Given the description of an element on the screen output the (x, y) to click on. 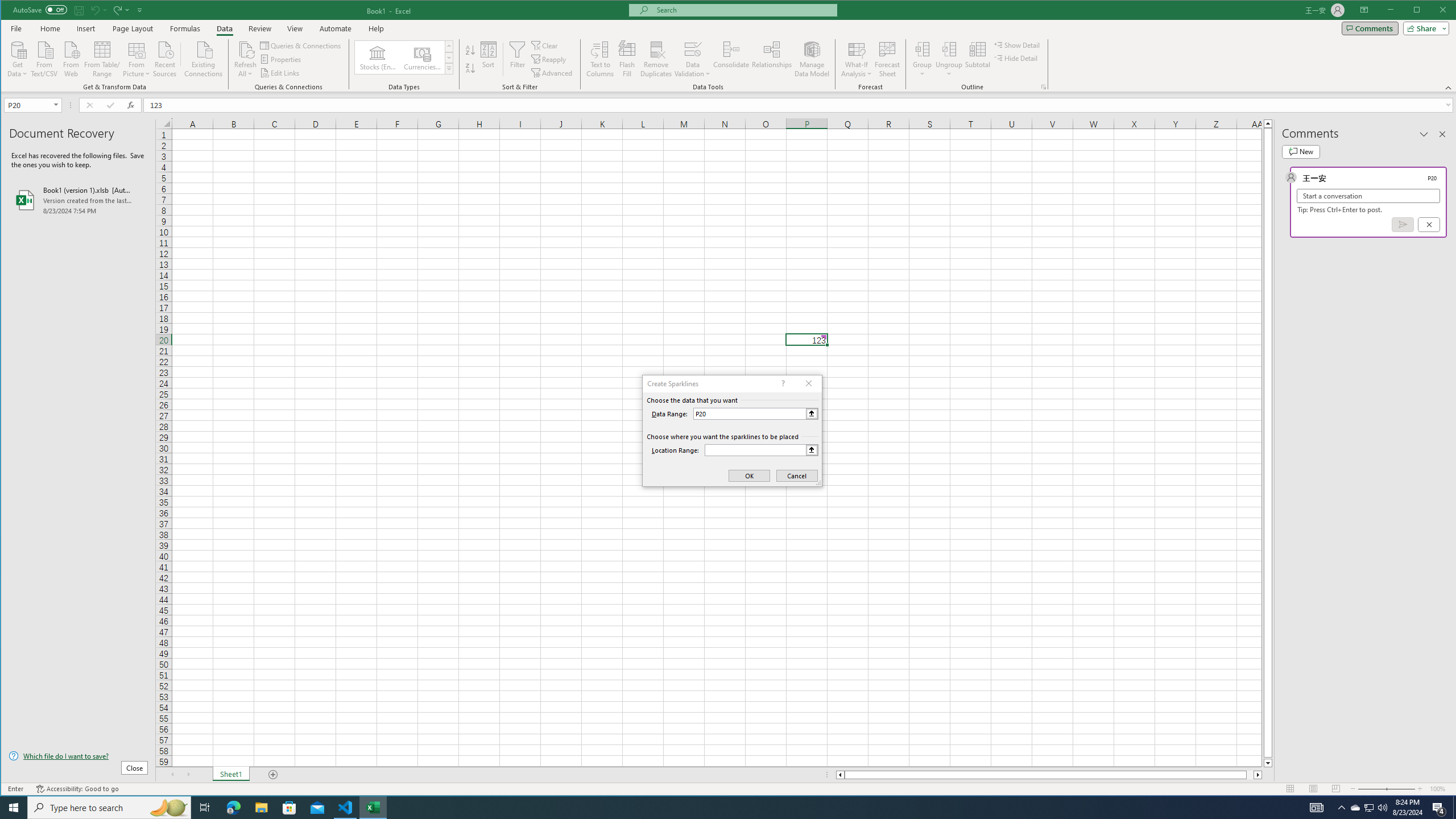
Subtotal (977, 59)
Advanced... (552, 72)
Edit Links (279, 72)
Sort Largest to Smallest (470, 68)
Text to Columns... (600, 59)
